Given the description of an element on the screen output the (x, y) to click on. 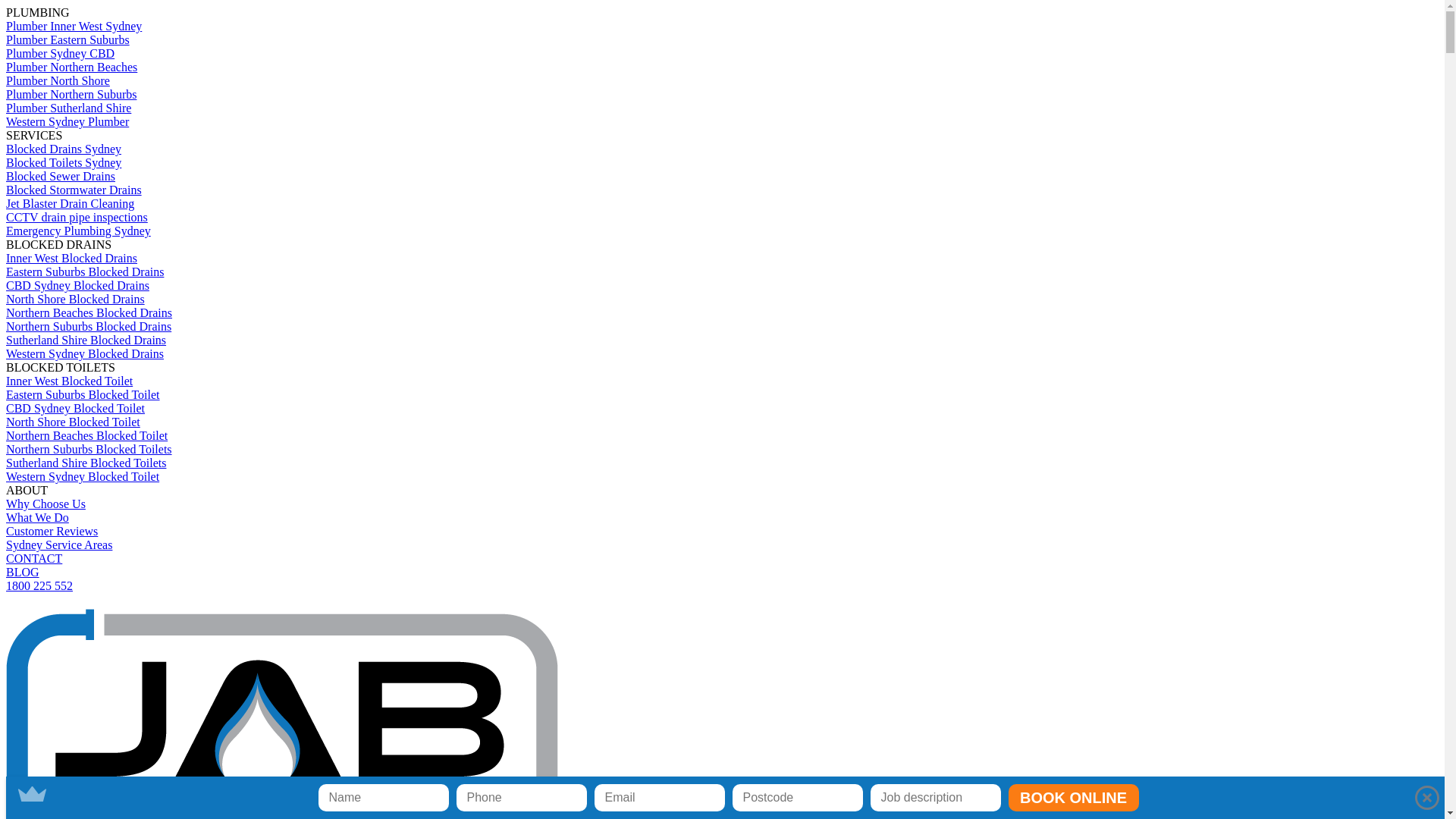
Customer Reviews Element type: text (51, 530)
Why Choose Us Element type: text (45, 503)
Sutherland Shire Blocked Drains Element type: text (86, 339)
Blocked Drains Sydney Element type: text (63, 148)
Western Sydney Blocked Drains Element type: text (84, 353)
Plumber North Shore Element type: text (57, 80)
Blocked Stormwater Drains Element type: text (73, 189)
Western Sydney Blocked Toilet Element type: text (82, 476)
Blocked Toilets Sydney Element type: text (63, 162)
Jet Blaster Drain Cleaning Element type: text (70, 203)
Plumber Sydney CBD Element type: text (60, 53)
1800 225 552 Element type: text (39, 585)
What We Do Element type: text (37, 517)
Northern Beaches Blocked Toilet Element type: text (86, 435)
Northern Beaches Blocked Drains Element type: text (89, 312)
Inner West Blocked Toilet Element type: text (69, 380)
Sutherland Shire Blocked Toilets Element type: text (86, 462)
Plumber Northern Suburbs Element type: text (71, 93)
CONTACT Element type: text (34, 558)
Eastern Suburbs Blocked Toilet Element type: text (83, 394)
Plumber Northern Beaches Element type: text (71, 66)
CBD Sydney Blocked Toilet Element type: text (75, 407)
Eastern Suburbs Blocked Drains Element type: text (84, 271)
Emergency Plumbing Sydney Element type: text (78, 230)
BLOG Element type: text (22, 571)
Sydney Service Areas Element type: text (59, 544)
North Shore Blocked Drains Element type: text (75, 298)
Northern Suburbs Blocked Toilets Element type: text (89, 448)
Plumber Sutherland Shire Element type: text (68, 107)
Northern Suburbs Blocked Drains Element type: text (88, 326)
CBD Sydney Blocked Drains Element type: text (77, 285)
Inner West Blocked Drains Element type: text (71, 257)
Plumber Eastern Suburbs Element type: text (67, 39)
CCTV drain pipe inspections Element type: text (76, 216)
Plumber Inner West Sydney Element type: text (73, 25)
Blocked Sewer Drains Element type: text (60, 175)
Western Sydney Plumber Element type: text (67, 121)
BOOK ONLINE Element type: text (1073, 797)
North Shore Blocked Toilet Element type: text (73, 421)
